Given the description of an element on the screen output the (x, y) to click on. 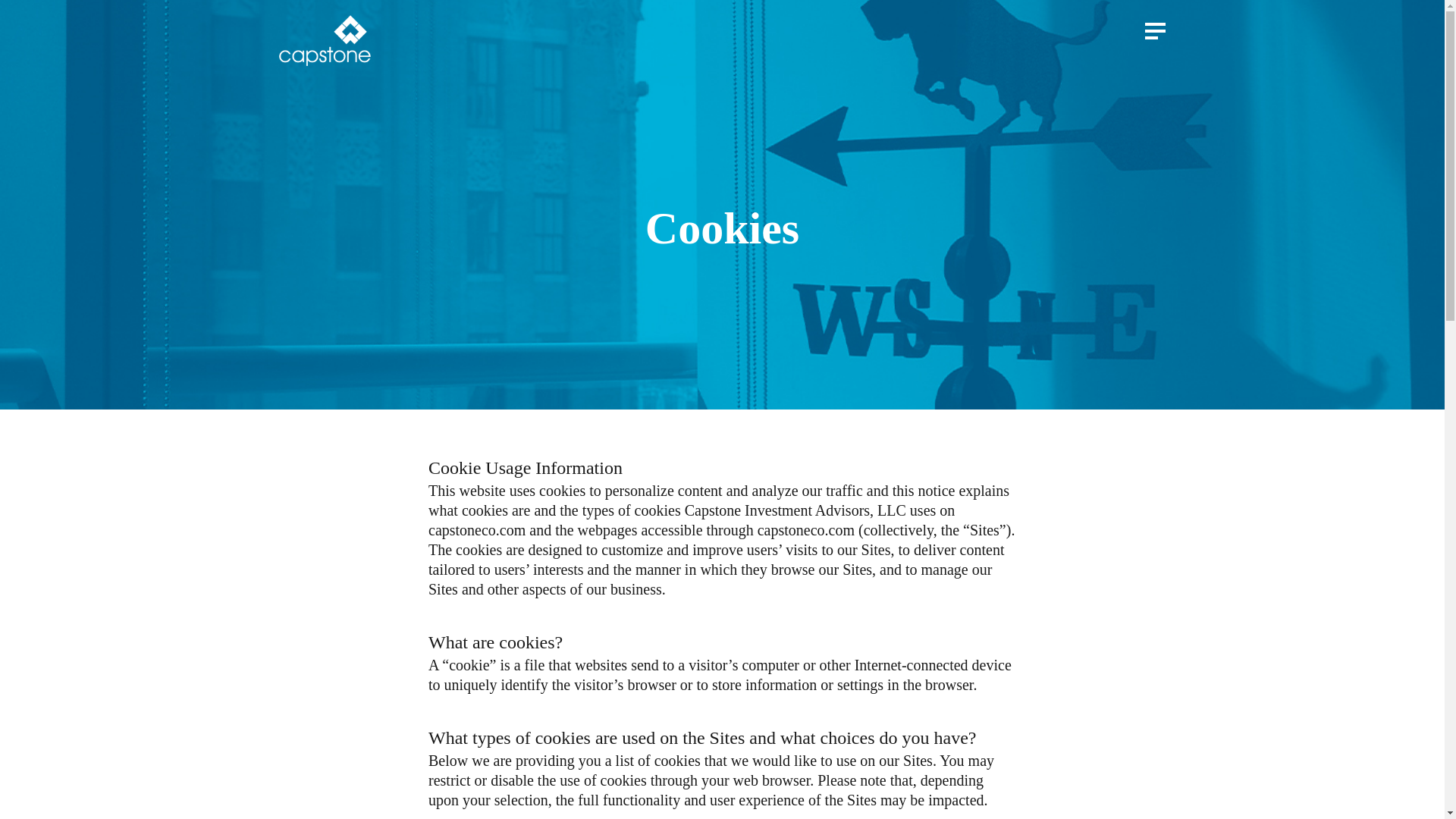
Capstone (325, 40)
